Given the description of an element on the screen output the (x, y) to click on. 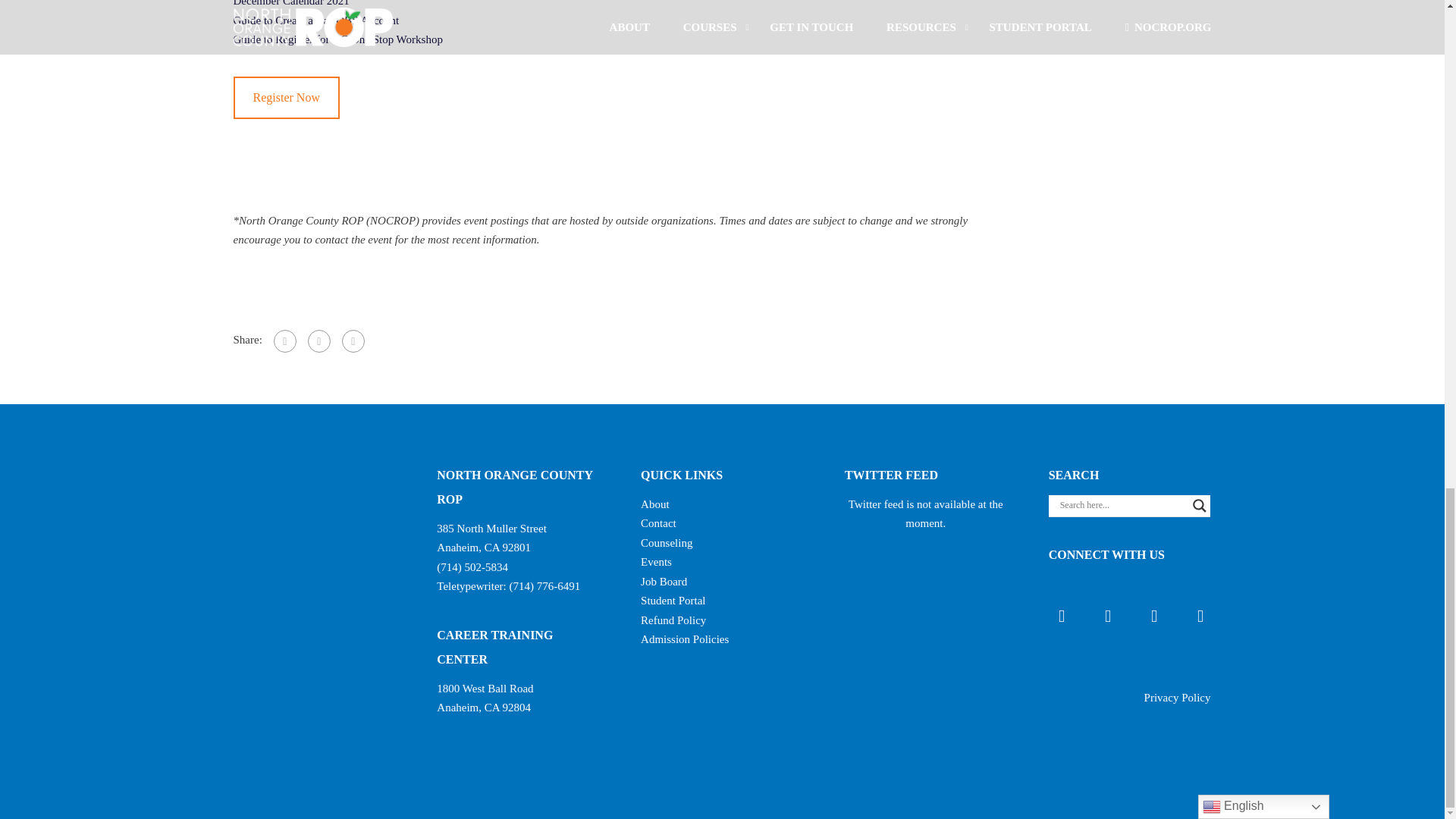
December Calendar 2021 (290, 3)
Guide to Register for OC One Stop Workshop (337, 39)
Guide to Create a CalJOBS Account (315, 20)
